Given the description of an element on the screen output the (x, y) to click on. 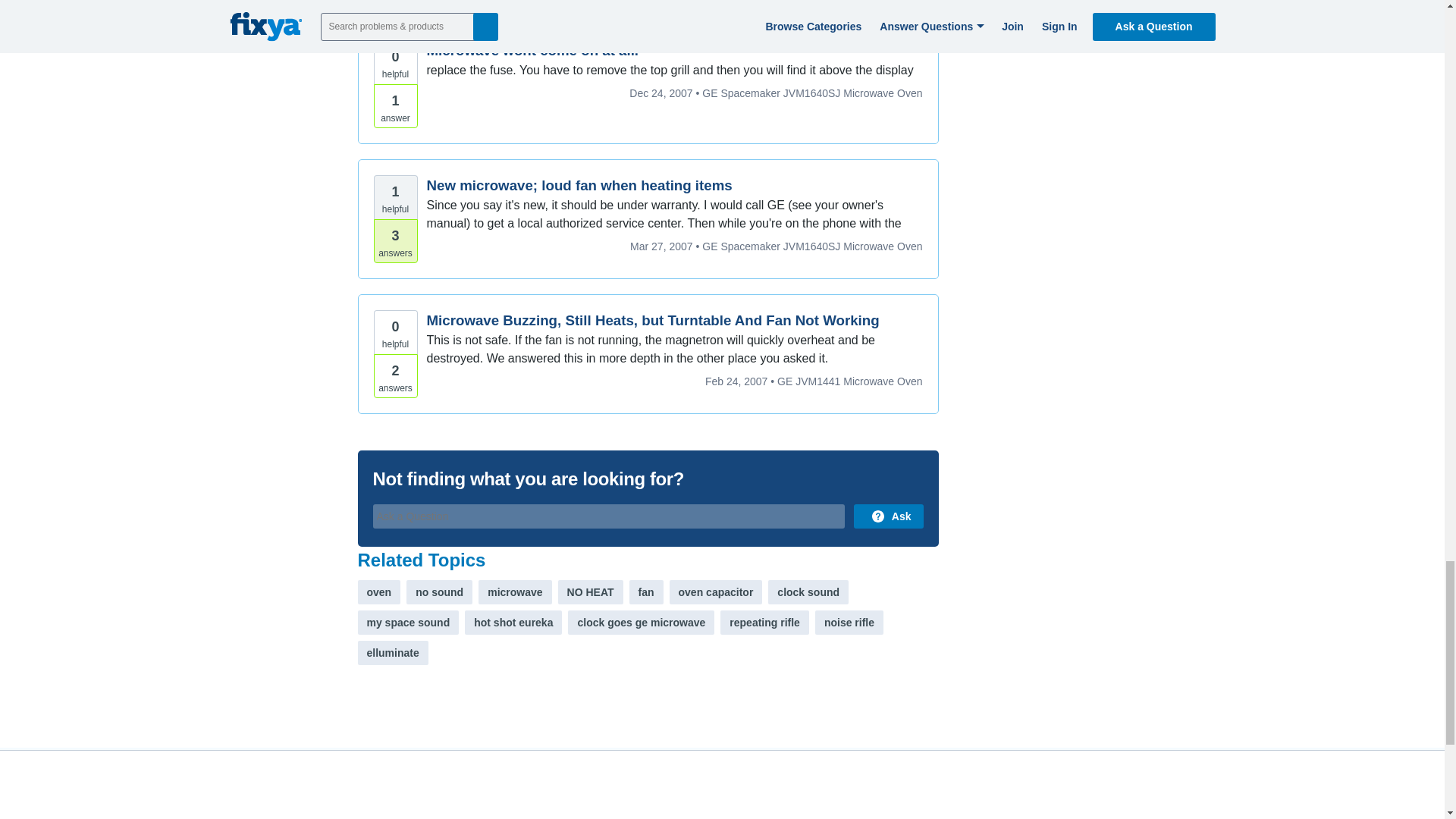
Ask (888, 516)
